Given the description of an element on the screen output the (x, y) to click on. 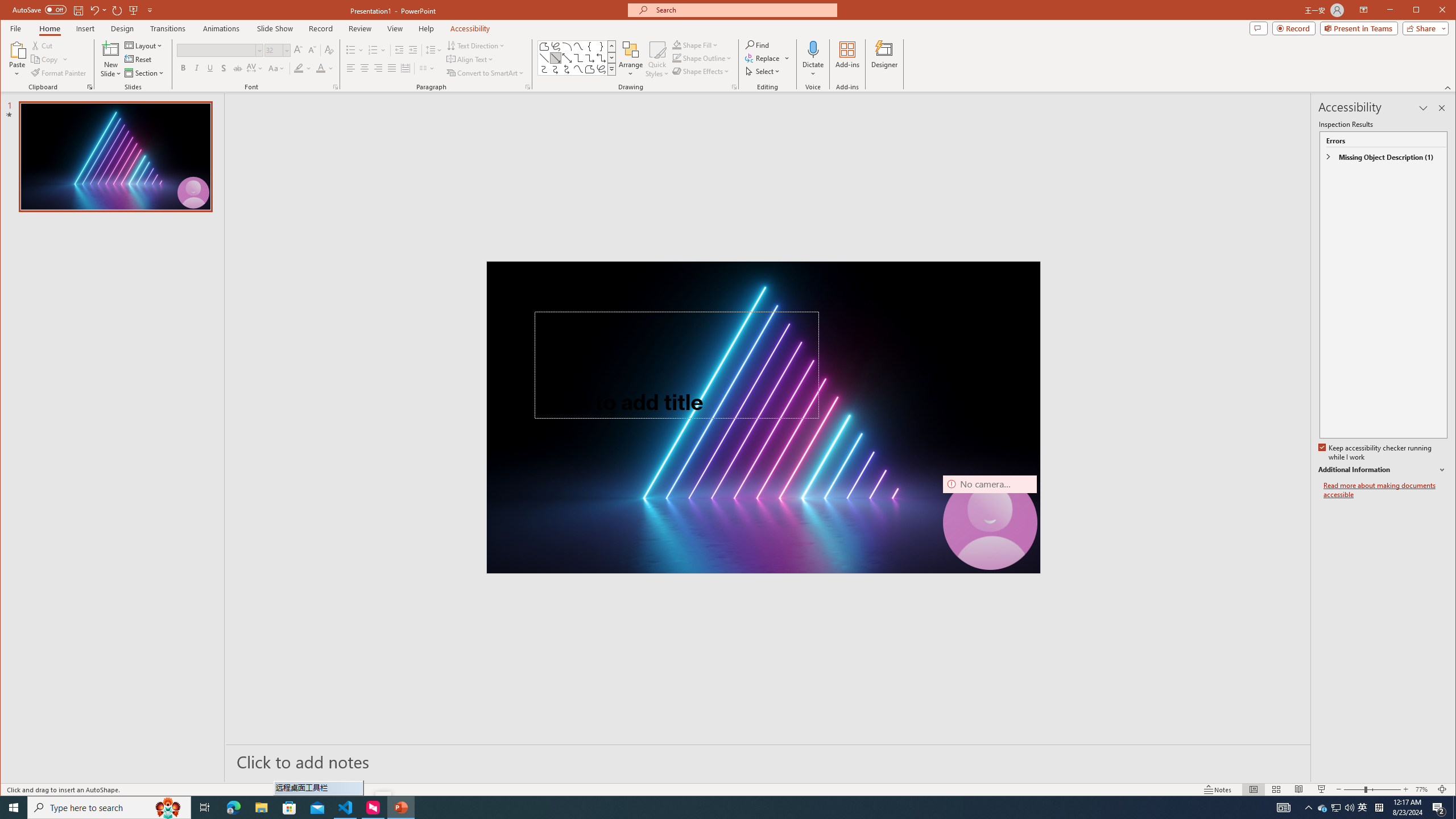
Connector: Curved (544, 69)
